Given the description of an element on the screen output the (x, y) to click on. 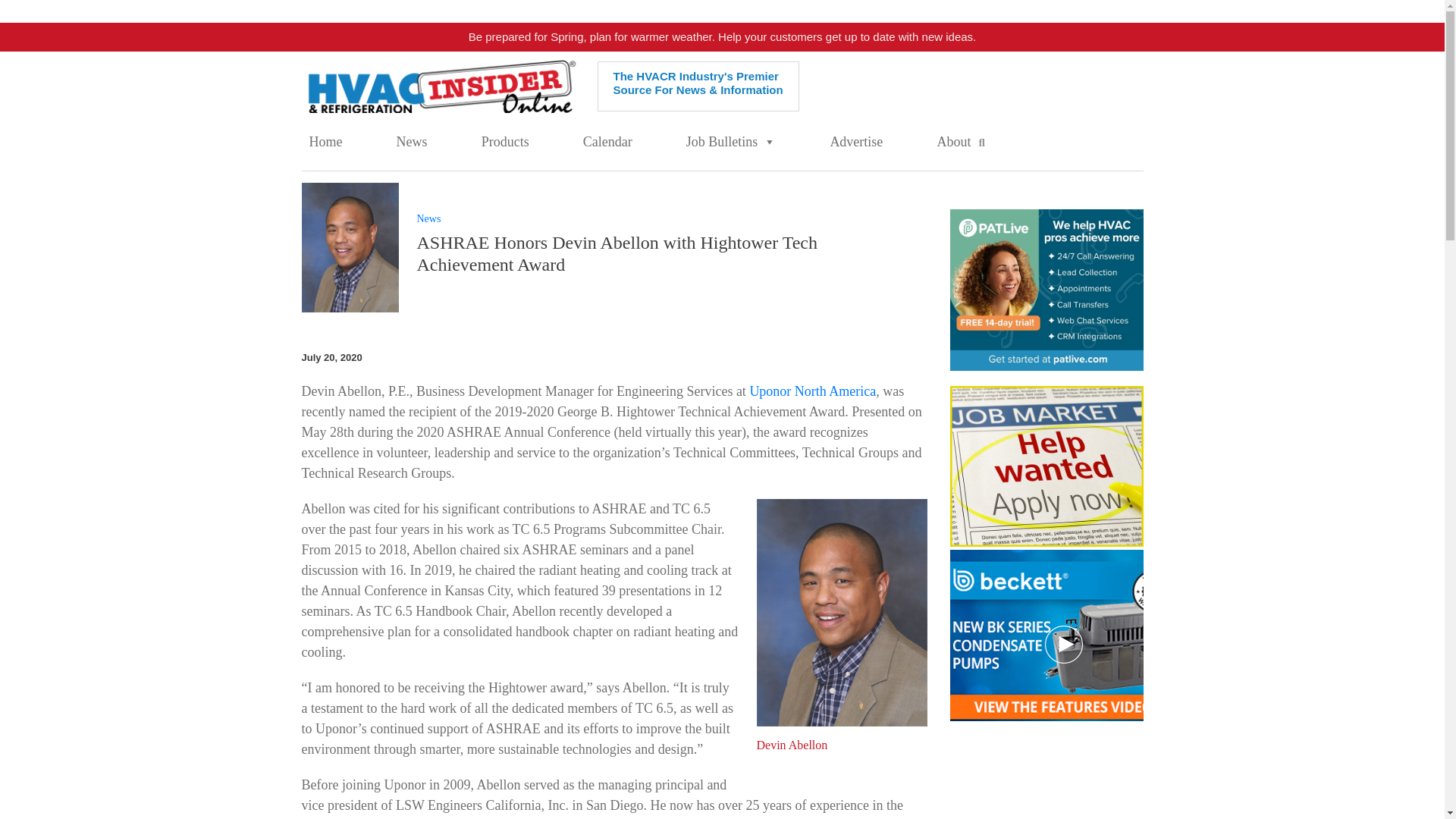
Products (505, 141)
News (411, 141)
Job Bulletins (731, 141)
Calendar (607, 141)
Home (325, 141)
